Given the description of an element on the screen output the (x, y) to click on. 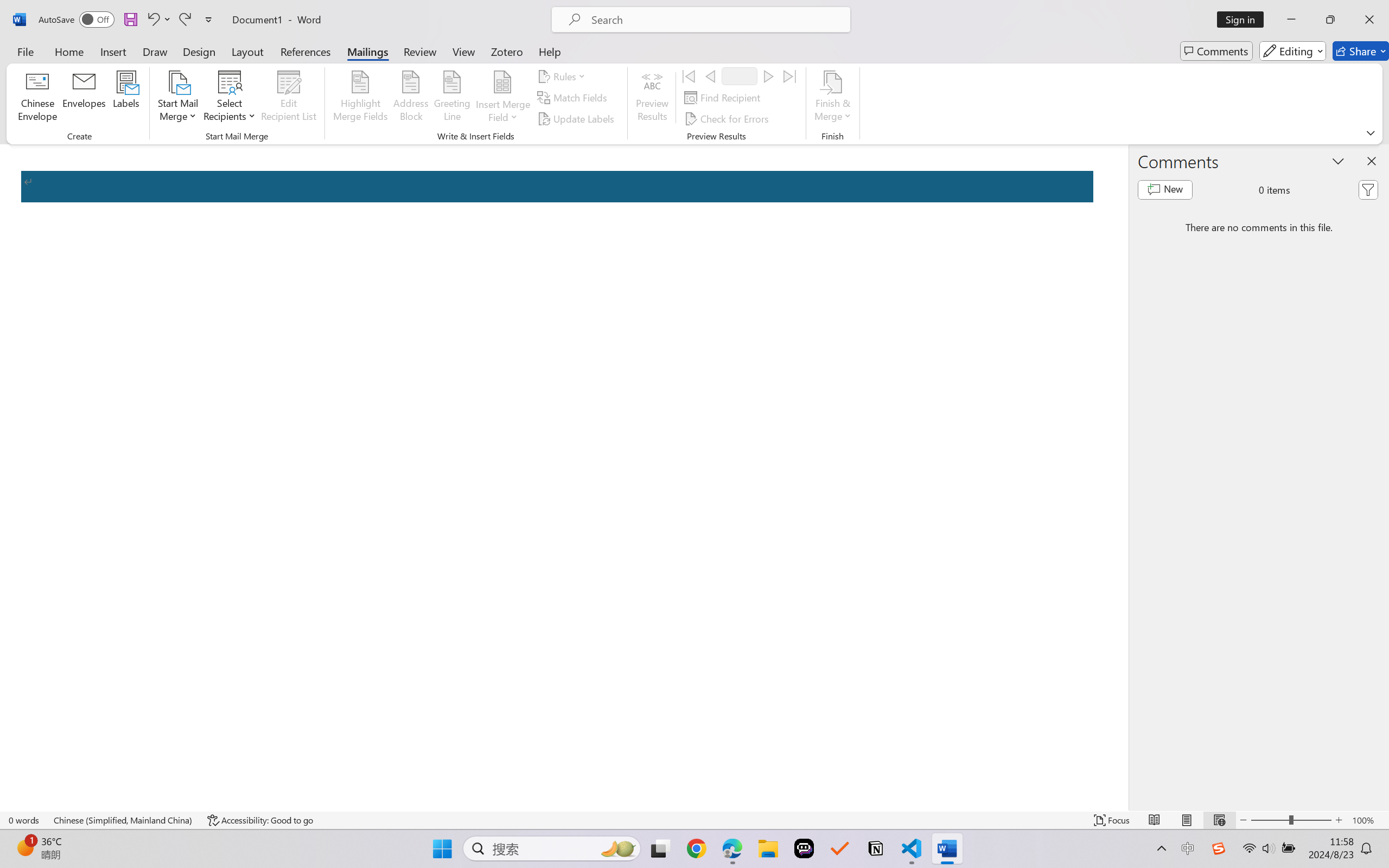
Address Block... (410, 97)
Insert Merge Field (502, 81)
Sign in (1244, 19)
Update Labels (576, 118)
Highlight Merge Fields (360, 97)
Find Recipient... (723, 97)
Chinese Envelope... (37, 97)
Rules (563, 75)
Labels... (126, 97)
